Given the description of an element on the screen output the (x, y) to click on. 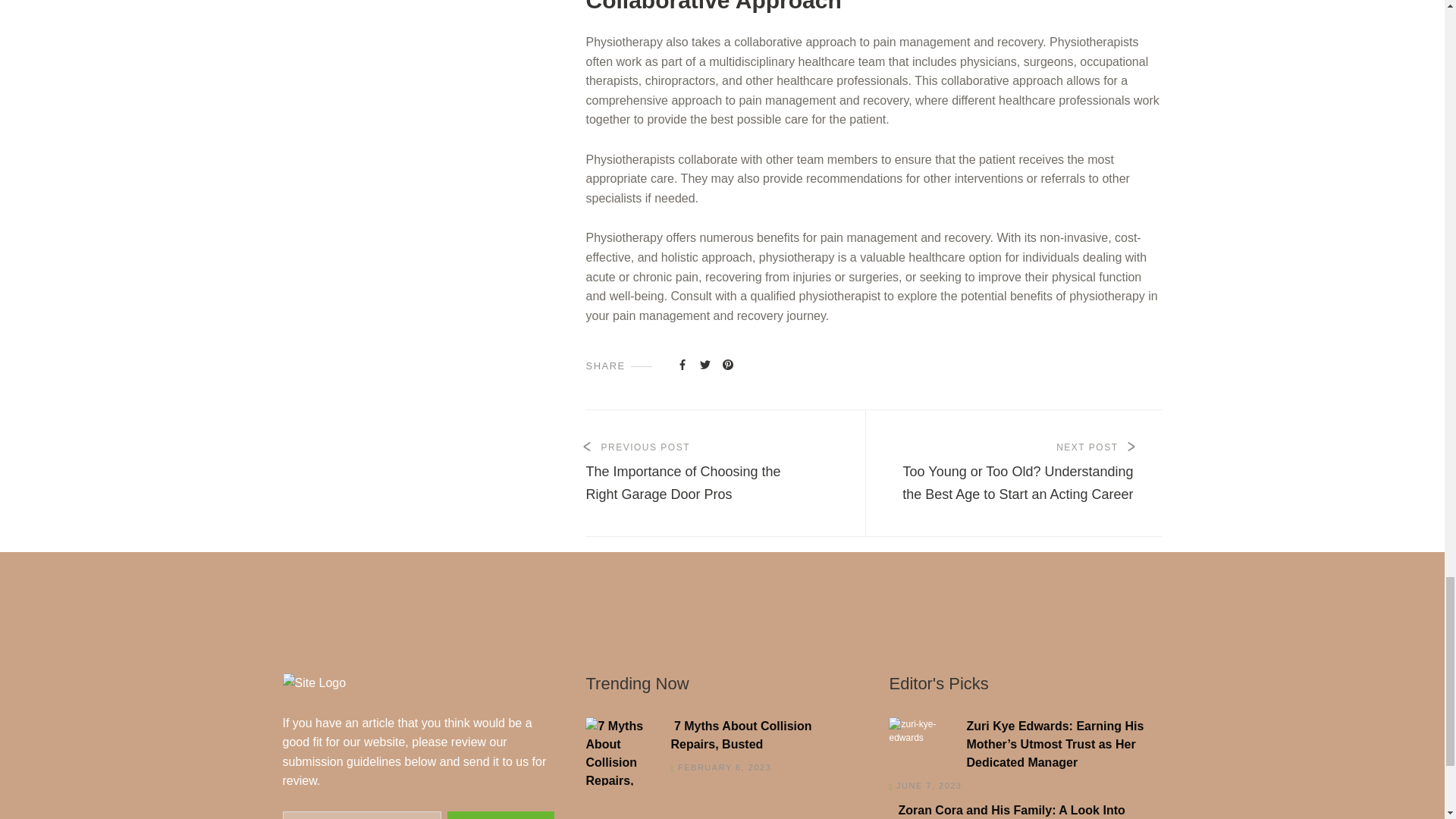
SUBSCRIBE (499, 815)
 7 Myths About Collision Repairs, Busted  (717, 735)
